Given the description of an element on the screen output the (x, y) to click on. 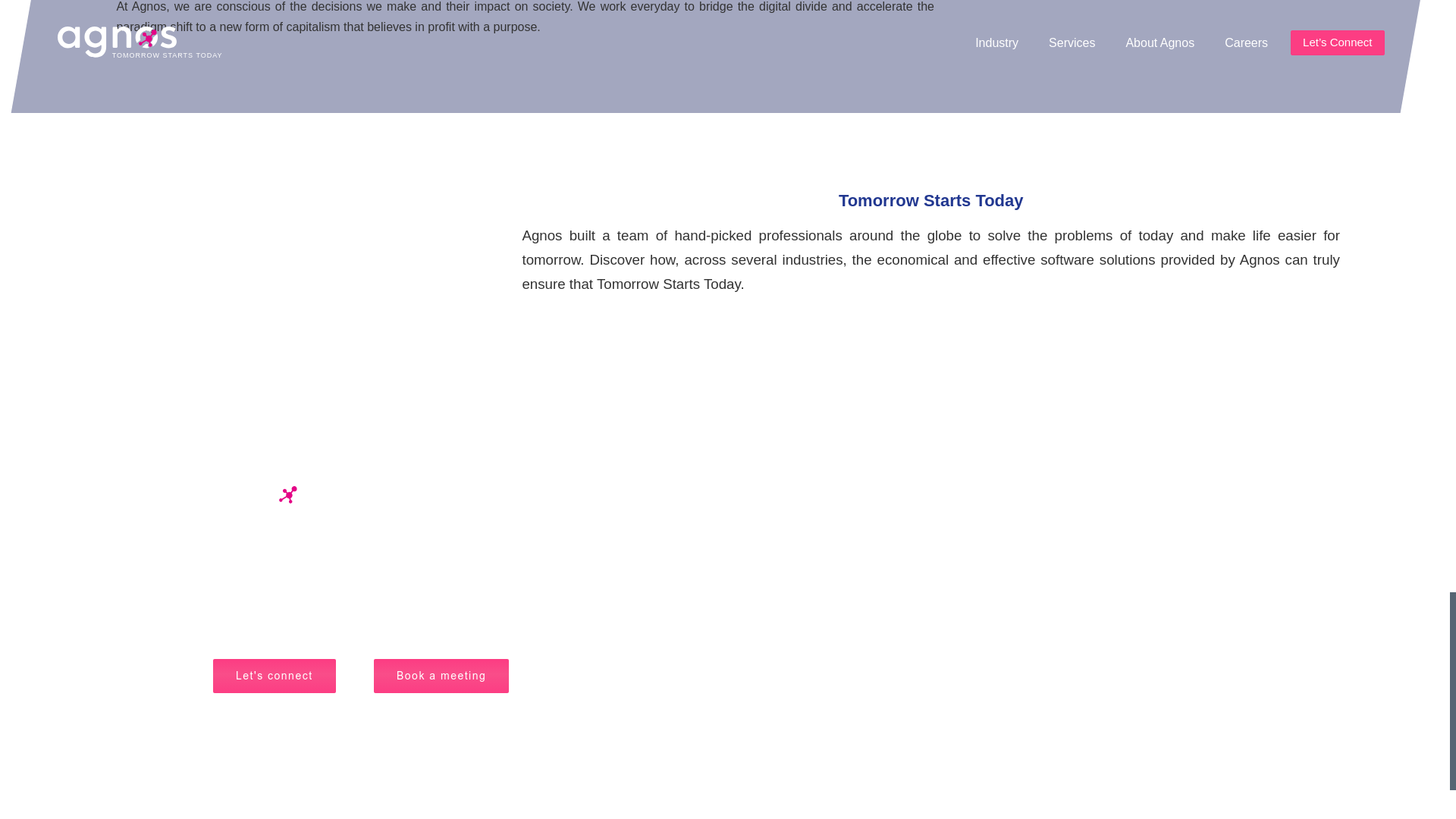
TOMORROW STARTS TODAY (283, 501)
